Given the description of an element on the screen output the (x, y) to click on. 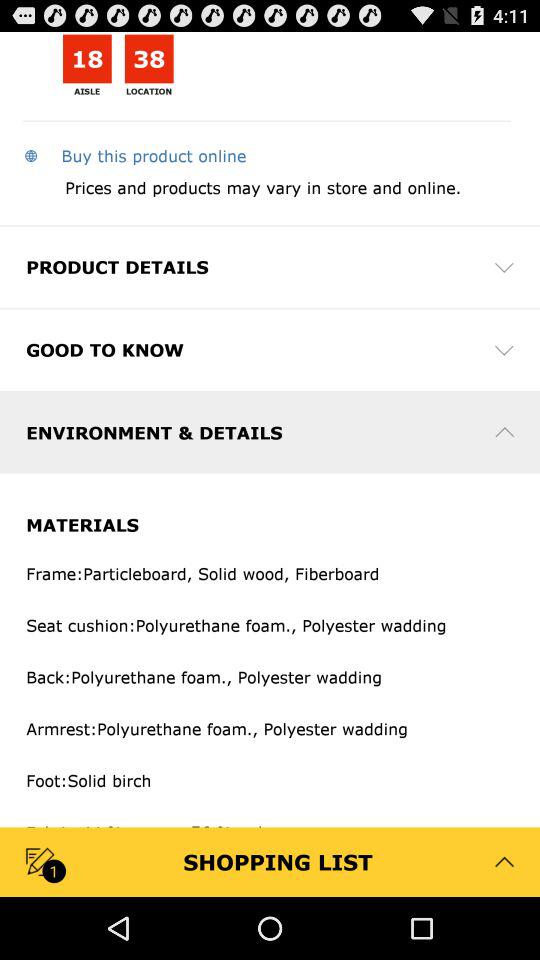
turn on the app above prices and products app (134, 155)
